Given the description of an element on the screen output the (x, y) to click on. 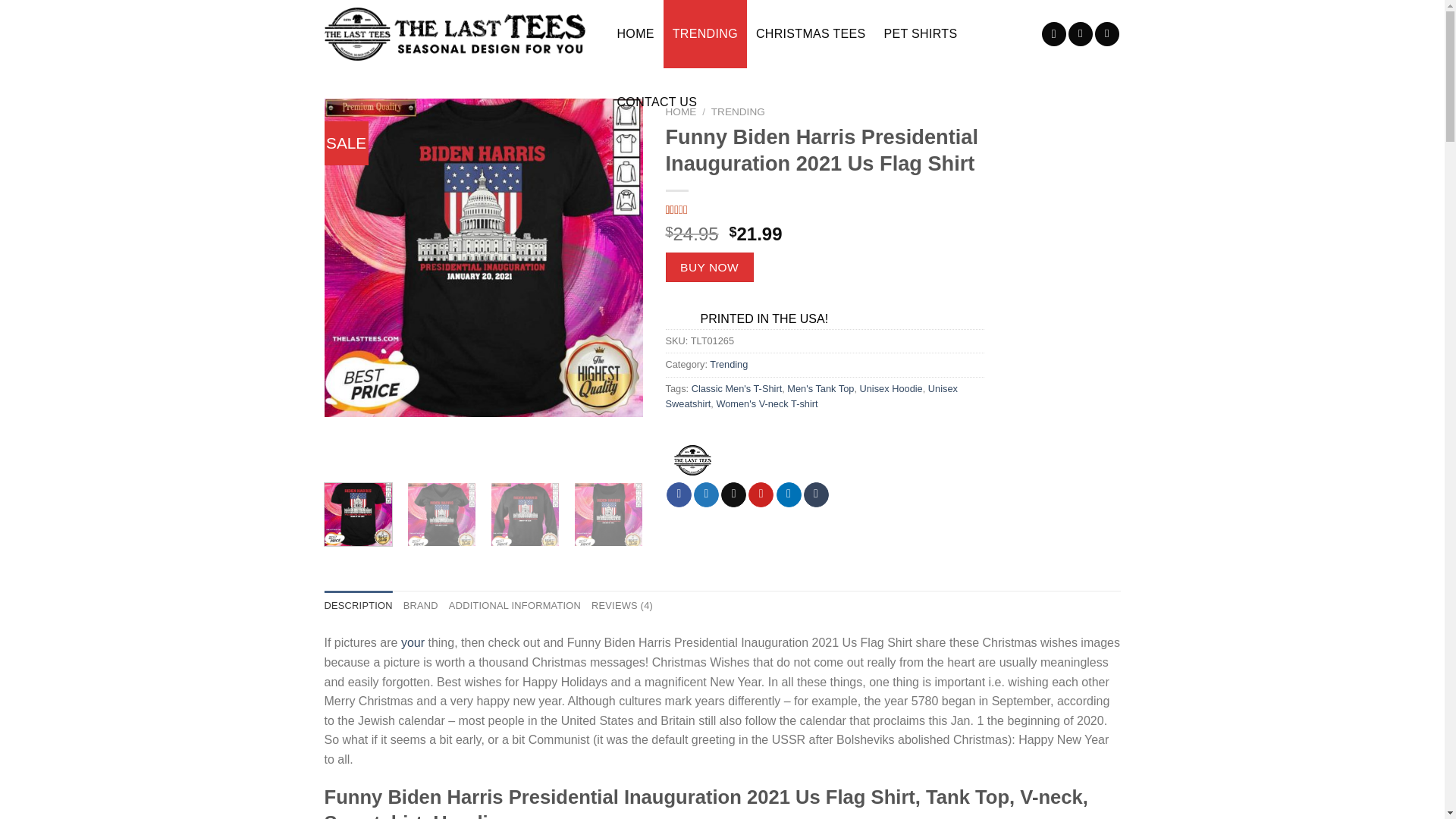
Share on Twitter (706, 494)
Unisex Sweatshirt (811, 396)
Share on LinkedIn (789, 494)
CONTACT US (657, 101)
Share on Facebook (678, 494)
HOME (681, 111)
Classic Men's T-Shirt (737, 388)
PET SHIRTS (920, 33)
CHRISTMAS TEES (810, 33)
